Given the description of an element on the screen output the (x, y) to click on. 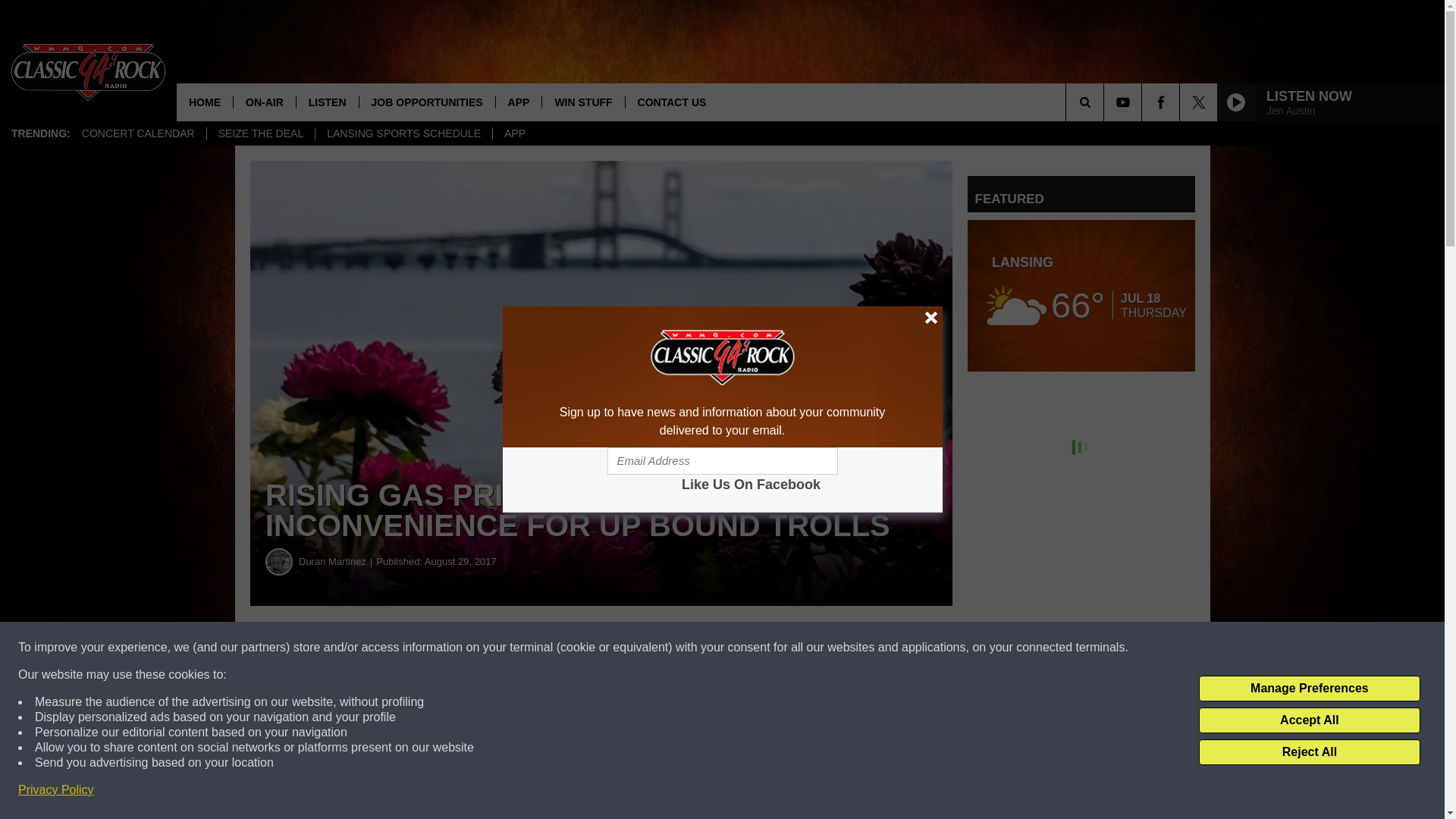
Reject All (1309, 751)
SEIZE THE DEAL (260, 133)
Share on Facebook (460, 647)
APP (518, 102)
ON-AIR (263, 102)
Accept All (1309, 720)
LISTEN (326, 102)
LANSING SPORTS SCHEDULE (403, 133)
Email Address (722, 461)
APP (514, 133)
Privacy Policy (55, 789)
JOB OPPORTUNITIES (426, 102)
SEARCH (1106, 102)
CONCERT CALENDAR (137, 133)
Manage Preferences (1309, 688)
